Given the description of an element on the screen output the (x, y) to click on. 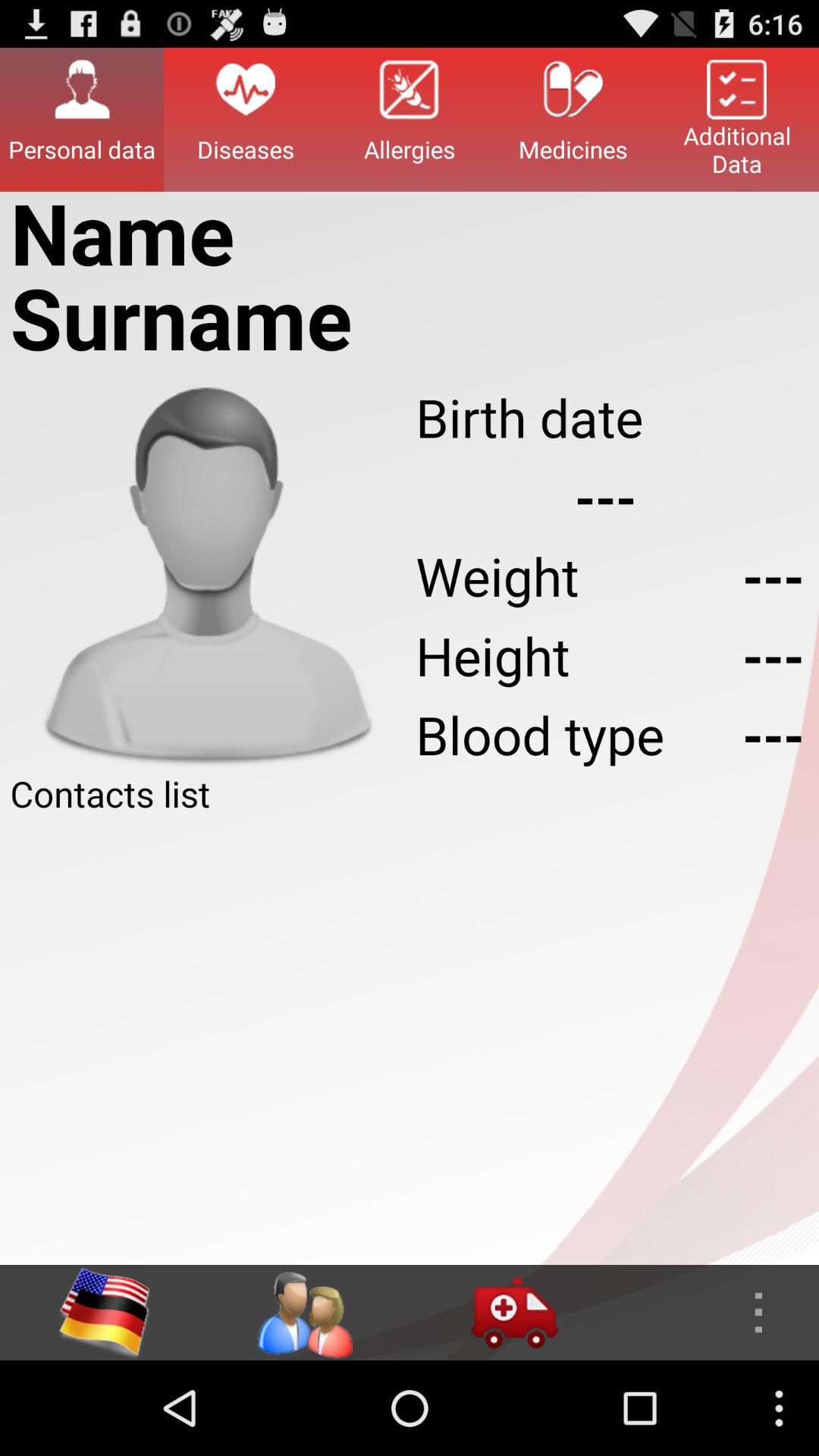
show more options (713, 1312)
